Given the description of an element on the screen output the (x, y) to click on. 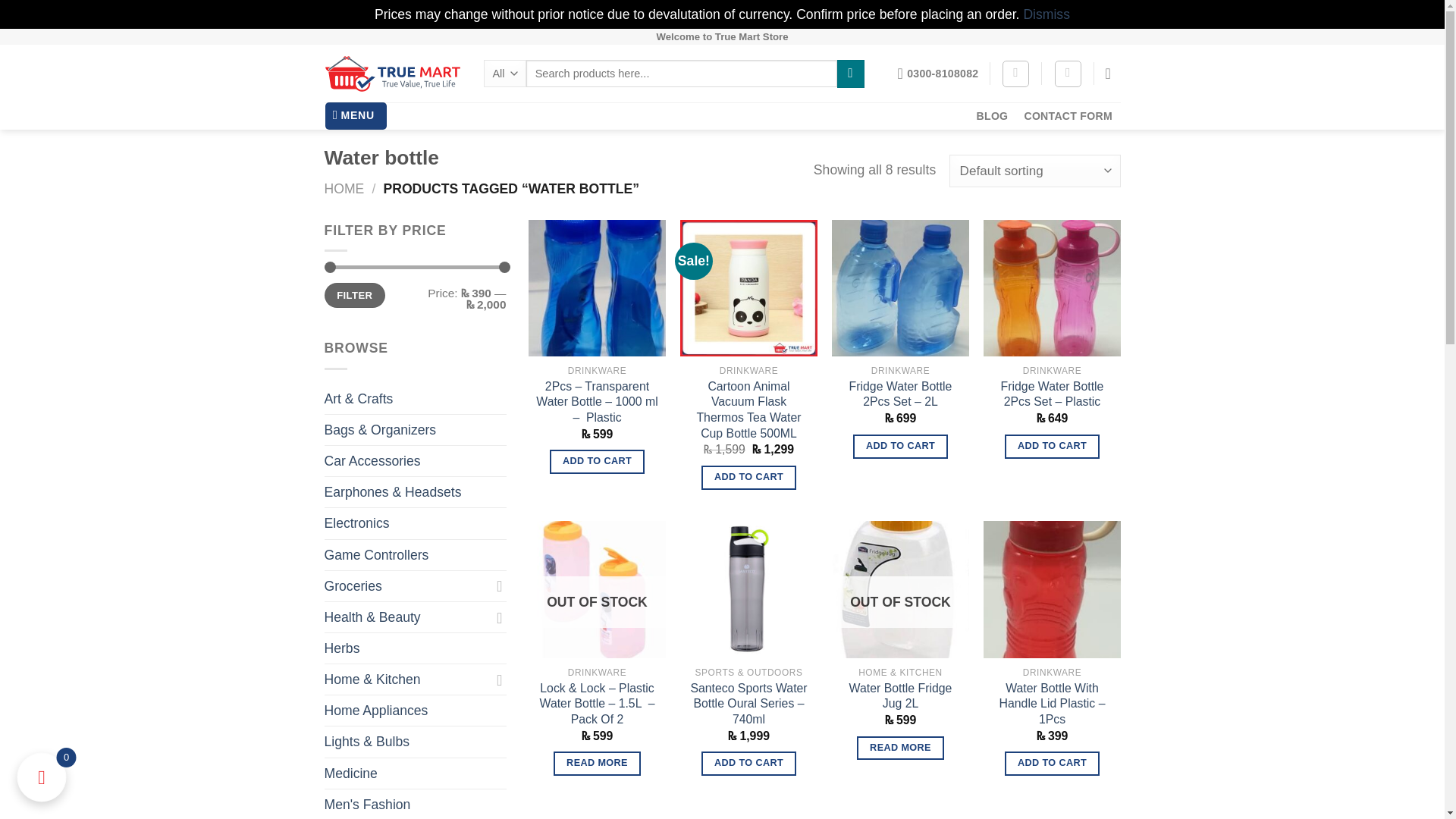
Electronics (415, 522)
0300-8108082 (938, 73)
MENU (355, 115)
CONTACT FORM (1068, 116)
0300-8108082 (938, 73)
FILTER (354, 294)
BLOG (992, 116)
Groceries (406, 585)
Game Controllers (415, 554)
Car Accessories (415, 460)
Search (850, 73)
HOME (344, 188)
Dismiss (1046, 14)
Herbs (415, 648)
Wishlist (1016, 73)
